Given the description of an element on the screen output the (x, y) to click on. 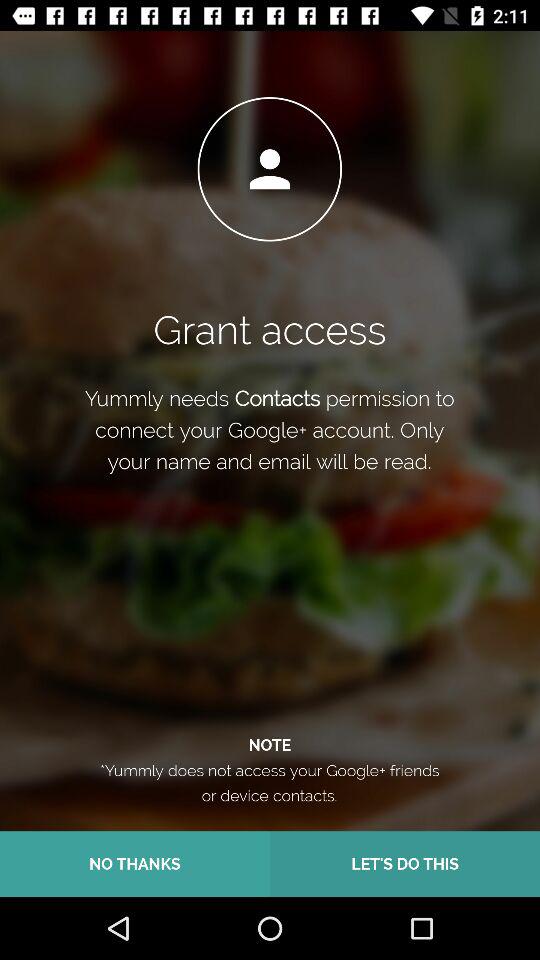
turn off let s do icon (405, 863)
